Given the description of an element on the screen output the (x, y) to click on. 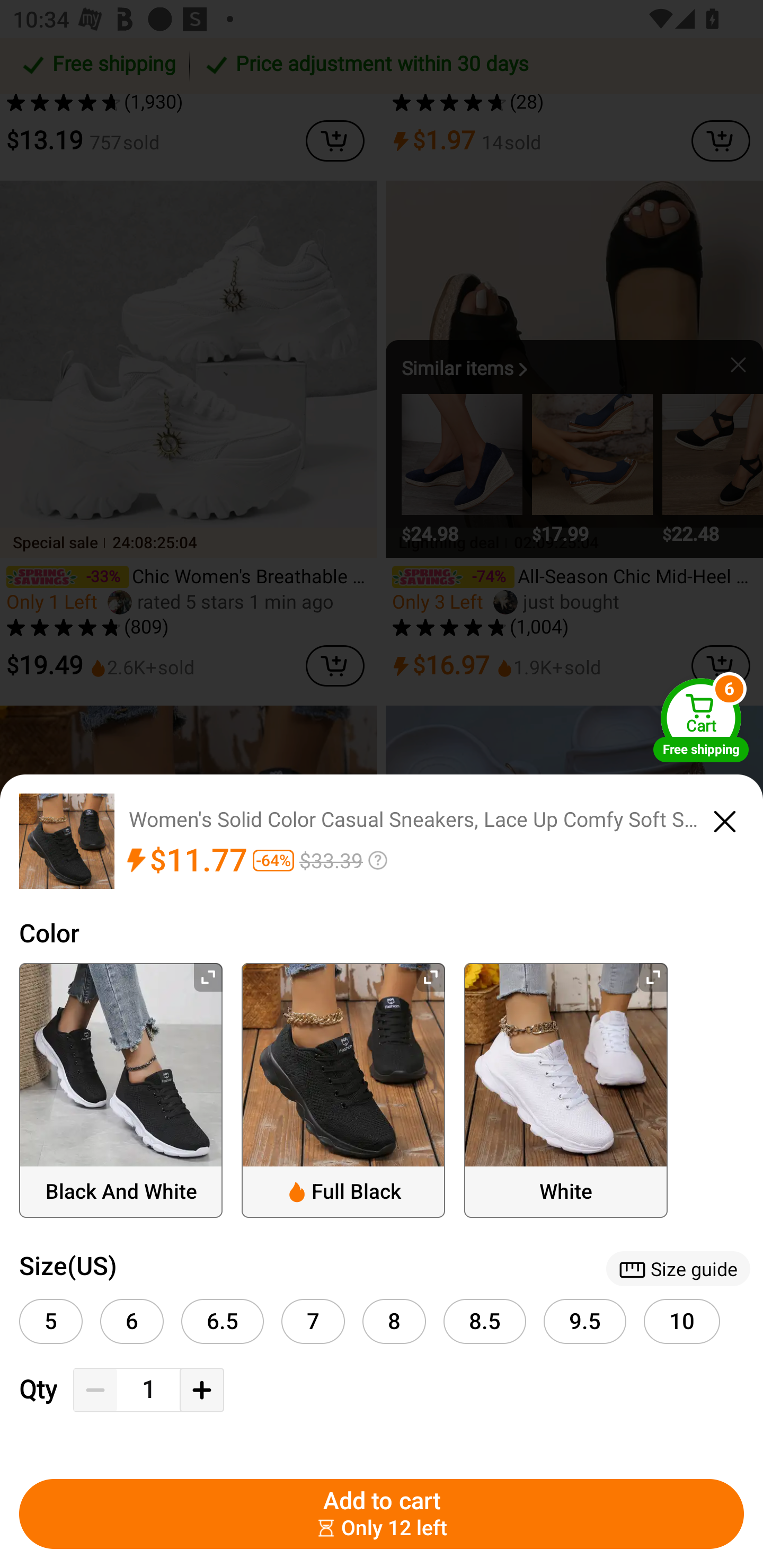
Cart Free shipping Cart (701, 720)
close (724, 819)
Black And White (120, 1090)
Full Black ￼Full Black (342, 1090)
White (565, 1090)
￼Size guide (677, 1268)
 5 (50, 1320)
 6 (131, 1320)
 6.5 (222, 1320)
 7 (312, 1320)
 8 (393, 1320)
 8.5 (484, 1320)
 9.5 (584, 1320)
 10 (681, 1320)
Decrease Quantity Button (95, 1389)
Add Quantity Button (201, 1389)
1 (148, 1389)
Add to cart ￼￼Only 12 left (381, 1513)
